Given the description of an element on the screen output the (x, y) to click on. 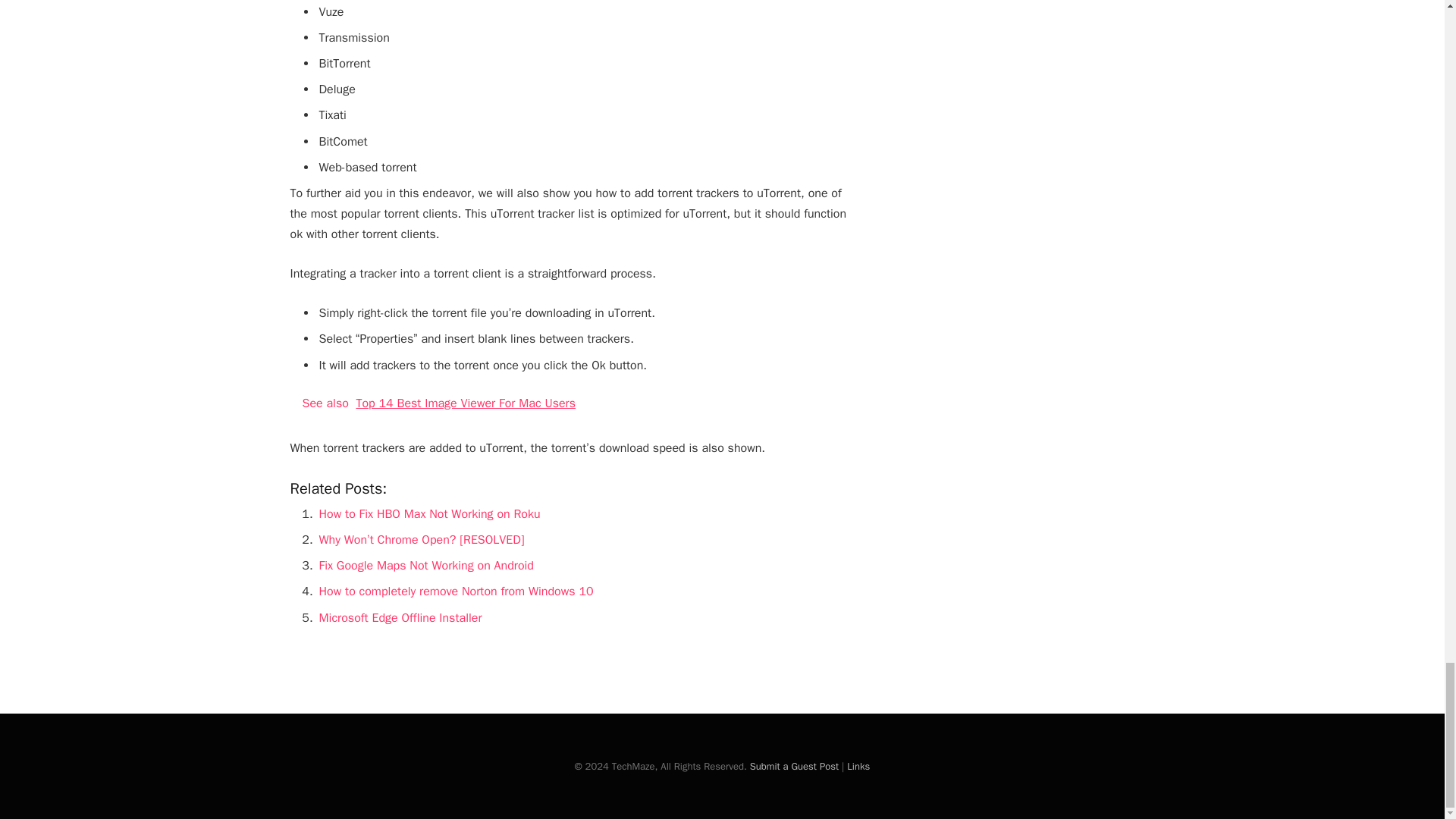
See also  Top 14 Best Image Viewer For Mac Users (573, 403)
Fix Google Maps Not Working on Android (425, 565)
How to Fix HBO Max Not Working on Roku (429, 513)
How to Fix HBO Max Not Working on Roku (429, 513)
Microsoft Edge Offline Installer (399, 617)
How to completely remove Norton from Windows 10 (455, 590)
